Given the description of an element on the screen output the (x, y) to click on. 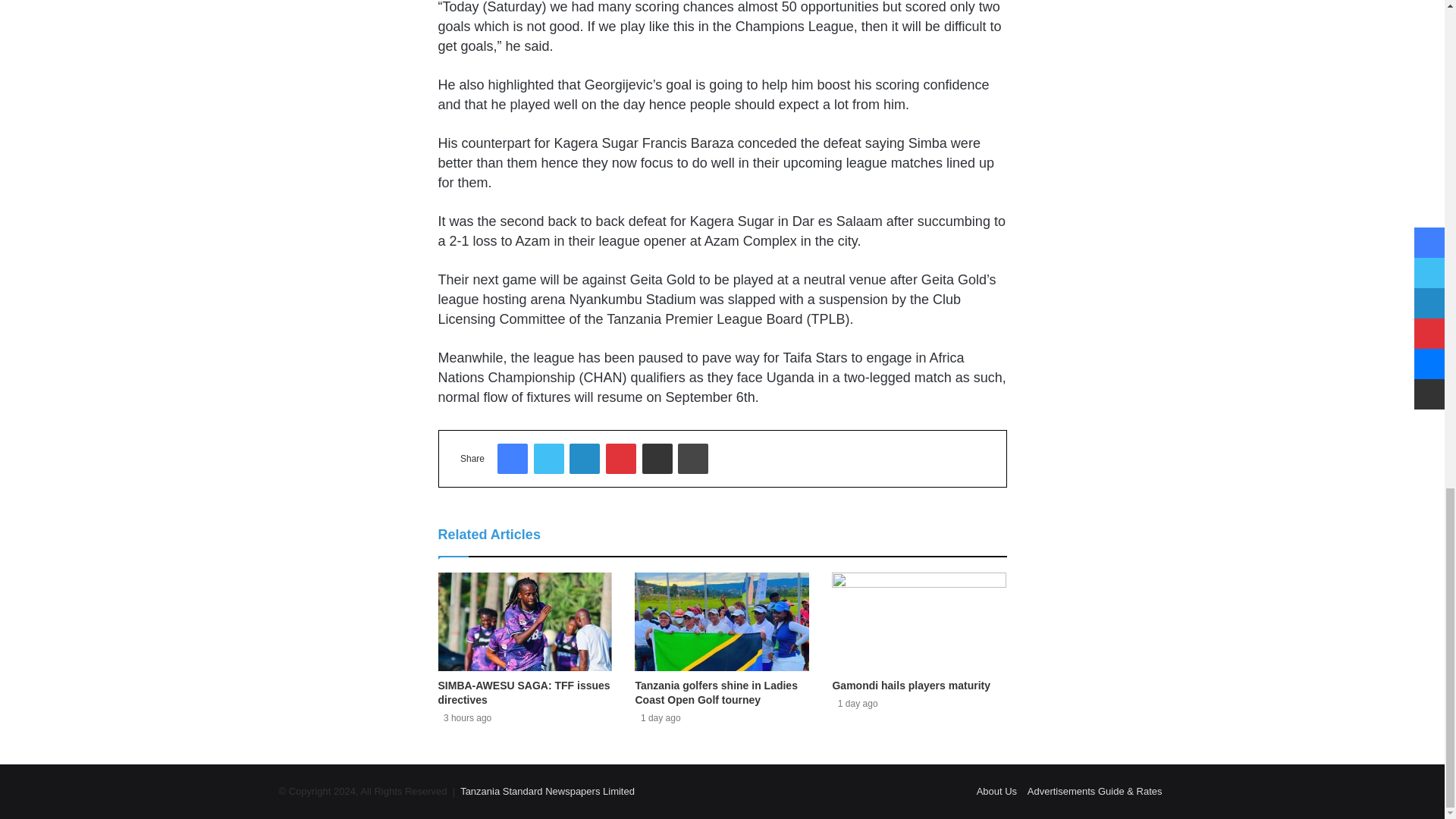
Pinterest (620, 458)
Print (692, 458)
LinkedIn (584, 458)
Twitter (549, 458)
Share via Email (656, 458)
LinkedIn (584, 458)
Facebook (512, 458)
Twitter (549, 458)
Facebook (512, 458)
Pinterest (620, 458)
